Given the description of an element on the screen output the (x, y) to click on. 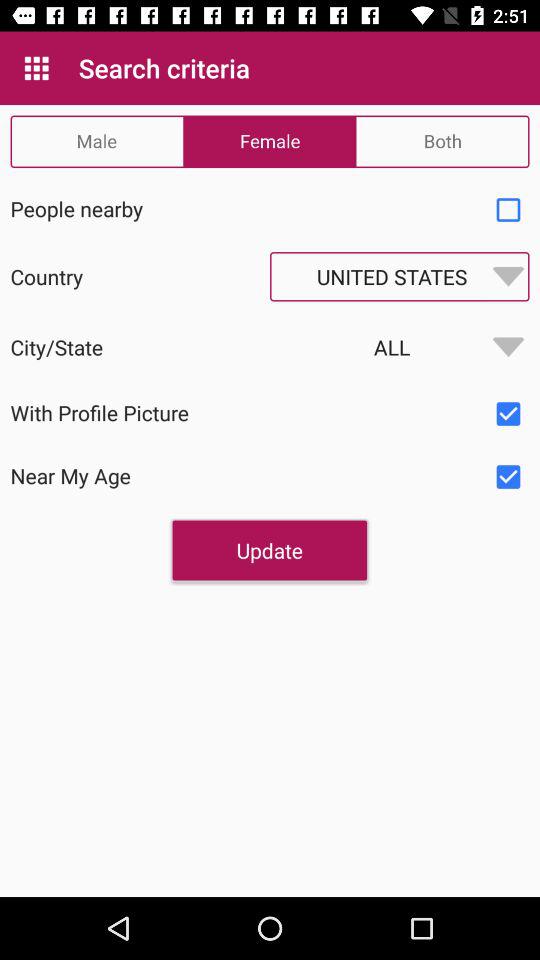
search option with profile picture (508, 414)
